Given the description of an element on the screen output the (x, y) to click on. 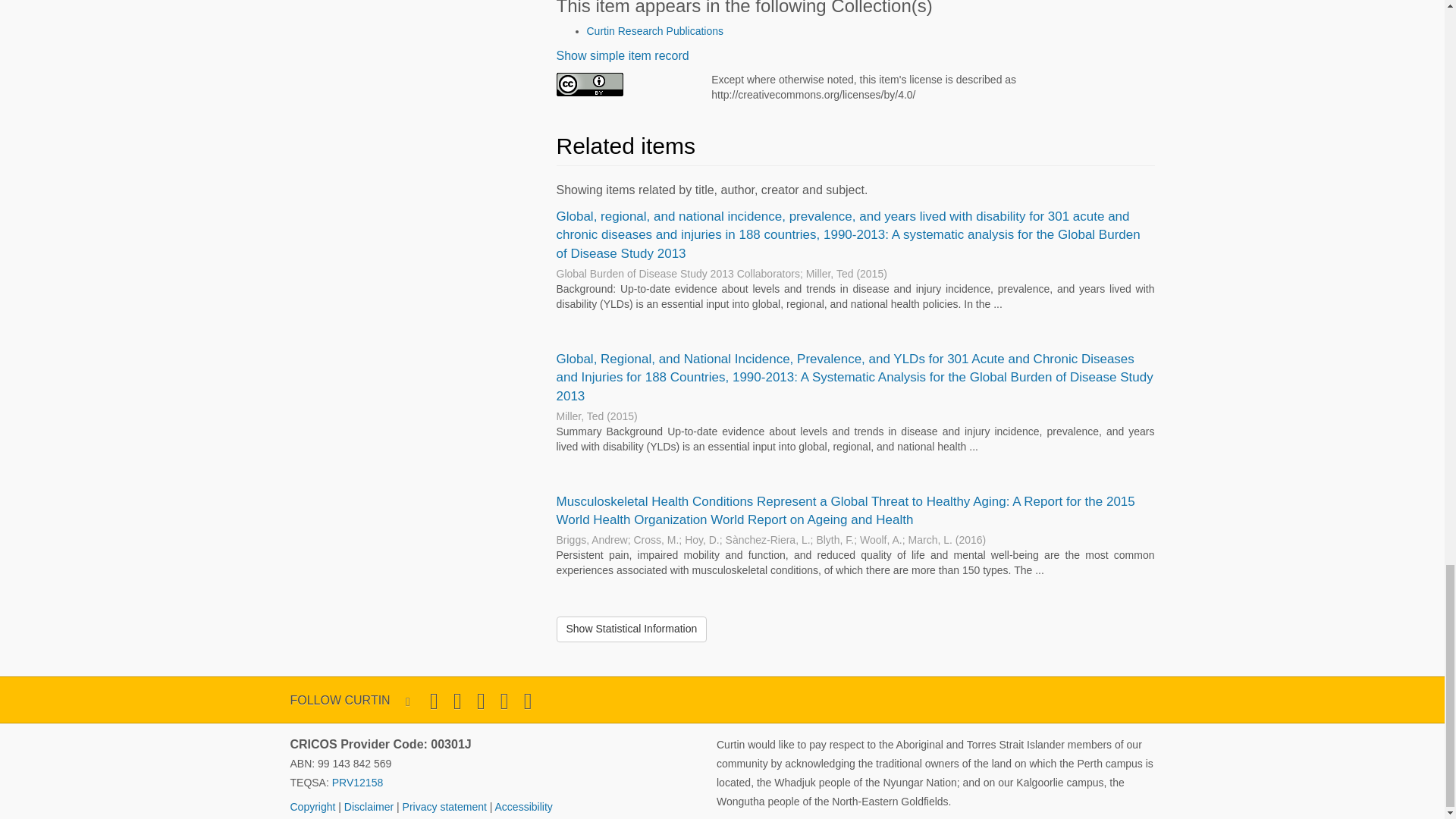
Show Statistical Information (631, 629)
Show simple item record (622, 55)
Curtin Research Publications (654, 30)
